Given the description of an element on the screen output the (x, y) to click on. 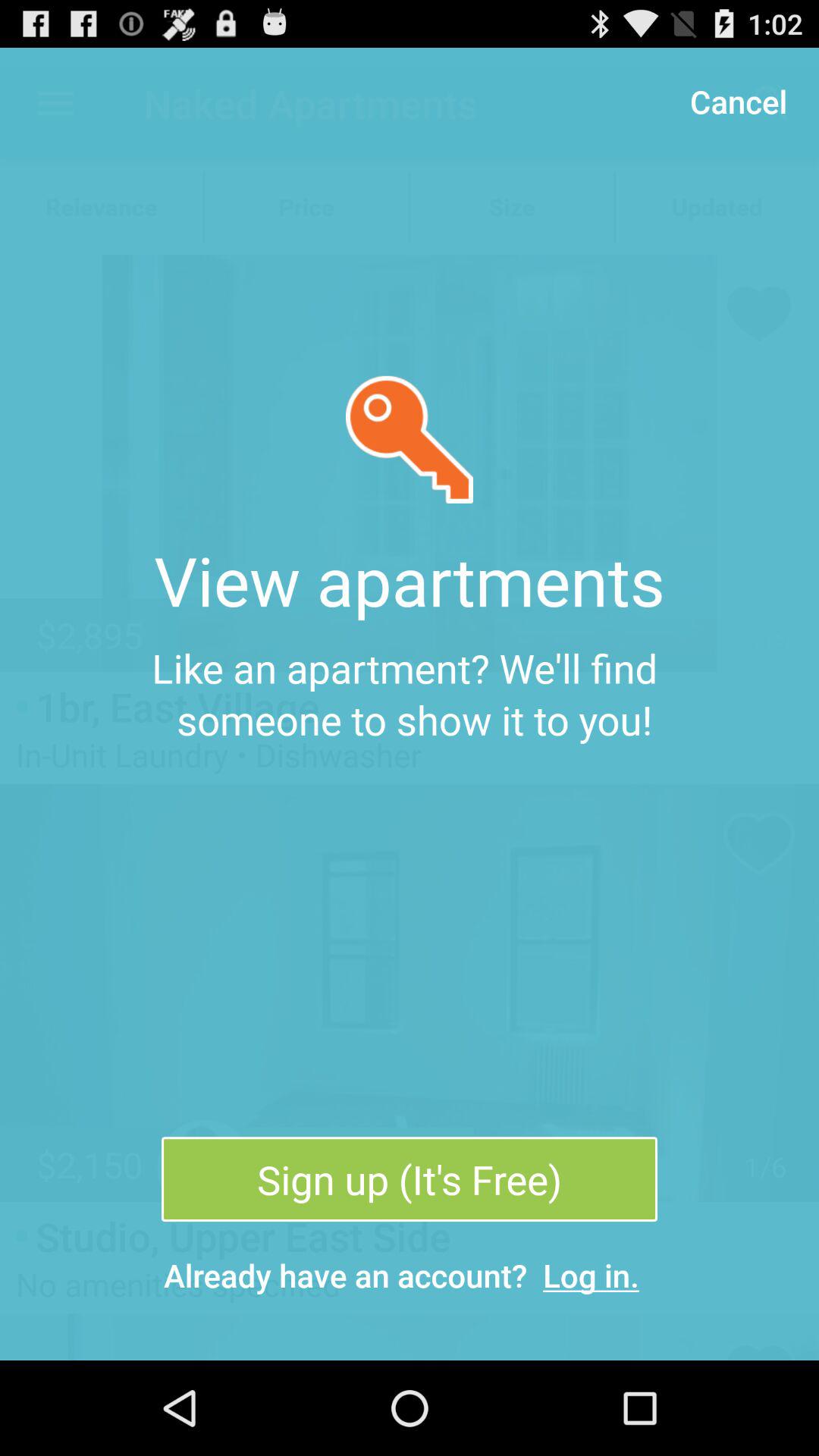
press icon next to already have an item (591, 1274)
